Given the description of an element on the screen output the (x, y) to click on. 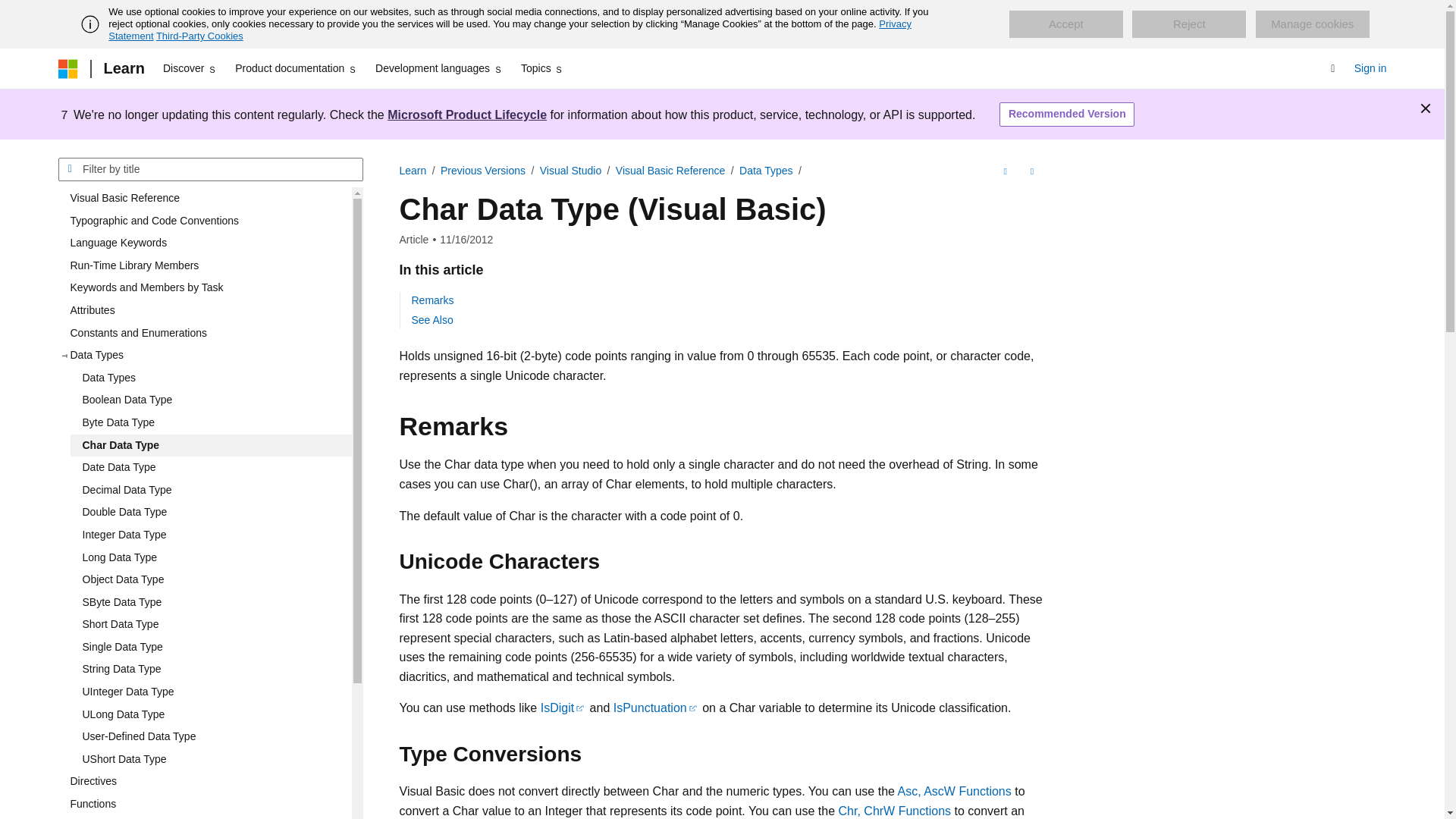
Product documentation (295, 68)
Learn (123, 68)
Boolean Data Type (209, 400)
Sign in (1370, 68)
Development languages (438, 68)
Data Types (209, 377)
Reject (1189, 23)
Topics (542, 68)
Attributes (204, 310)
Keywords and Members by Task (204, 287)
